Given the description of an element on the screen output the (x, y) to click on. 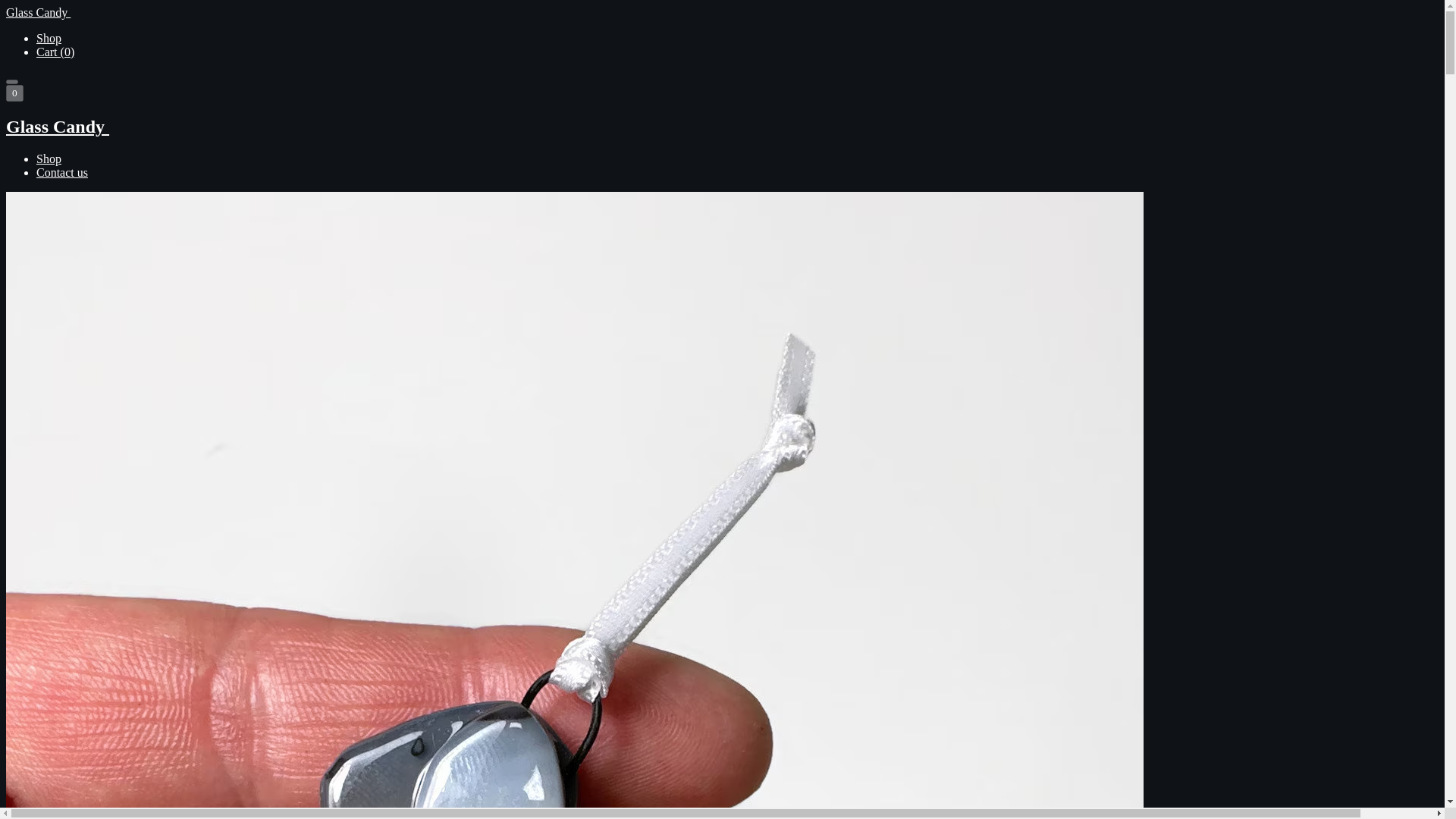
Shop (48, 38)
Contact us (61, 172)
Shop (48, 158)
0 (14, 93)
Glass Candy  (721, 127)
